Given the description of an element on the screen output the (x, y) to click on. 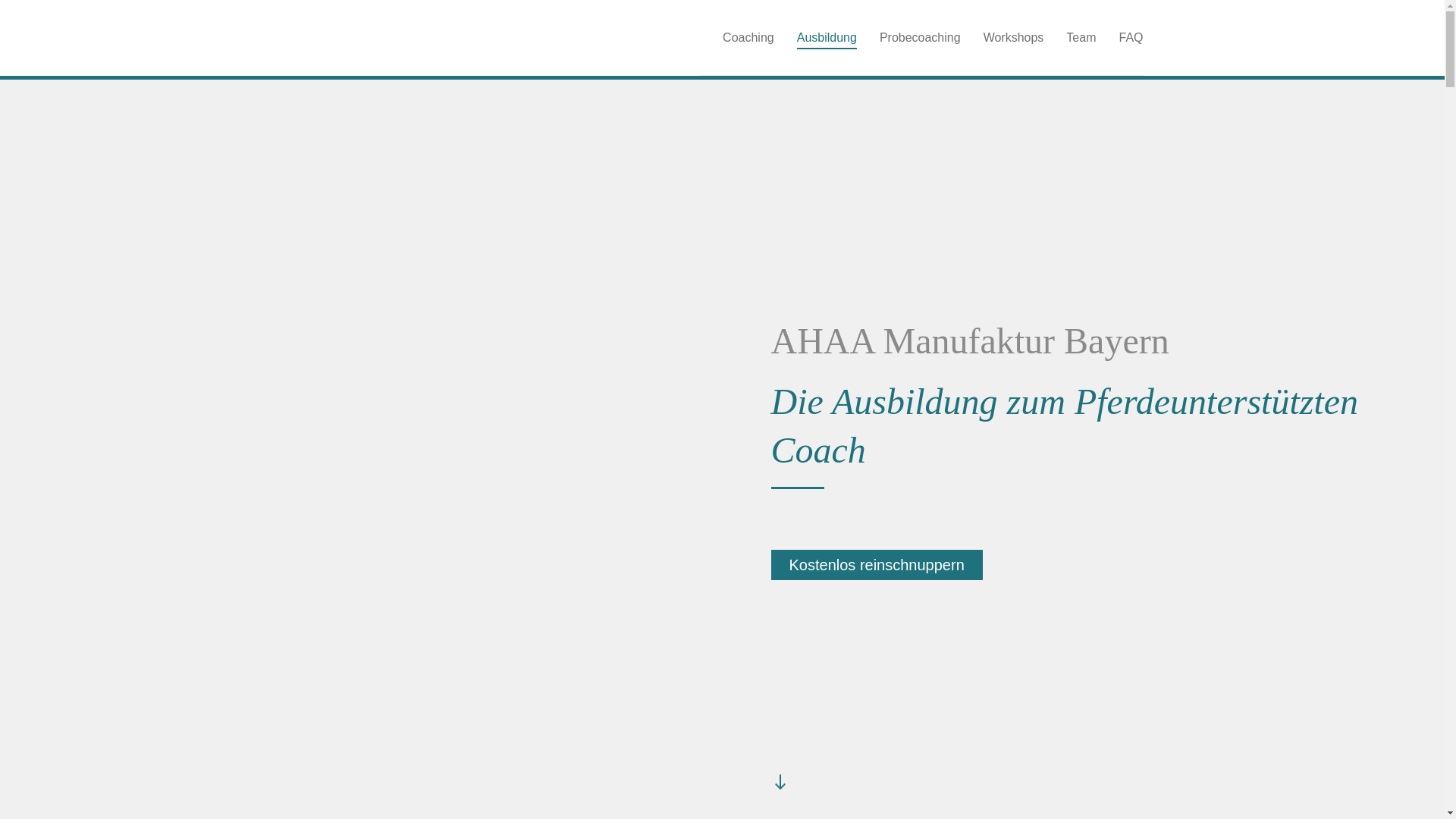
Probecoaching Element type: text (908, 37)
Coaching Element type: text (736, 37)
Kostenlos reinschnuppern Element type: text (876, 564)
Workshops Element type: text (1002, 37)
FAQ Element type: text (1118, 37)
Team Element type: text (1069, 37)
Ausbildung Element type: text (815, 37)
